Given the description of an element on the screen output the (x, y) to click on. 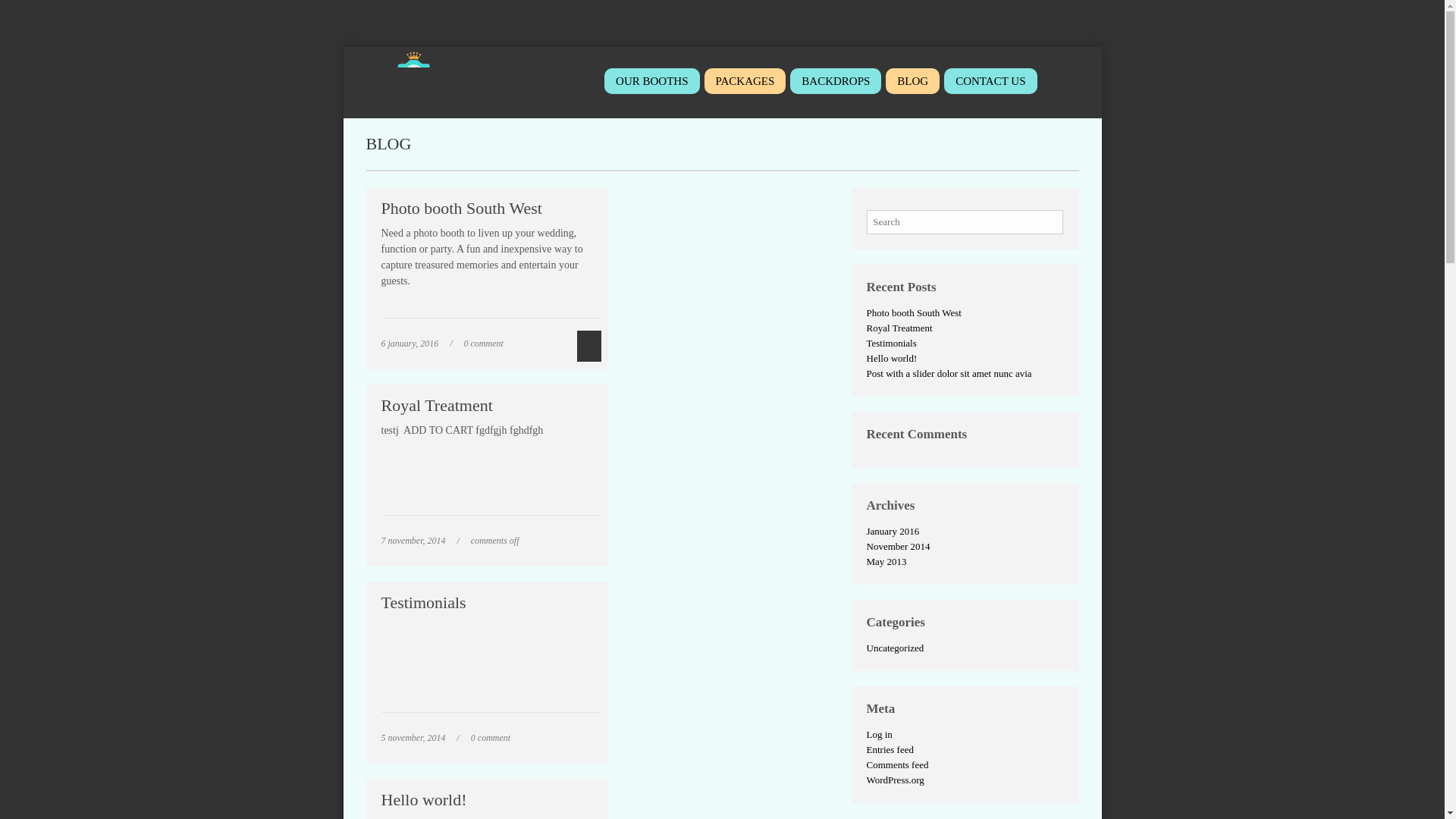
Photo booth South West (460, 208)
0 comment (483, 343)
0 comment (490, 737)
BACKDROPS (835, 80)
Royal Treatment (436, 404)
Photo booth South West (460, 208)
Royal Treatment (436, 404)
Hello world! (422, 799)
OUR BOOTHS (651, 80)
Hello world! (422, 799)
